Given the description of an element on the screen output the (x, y) to click on. 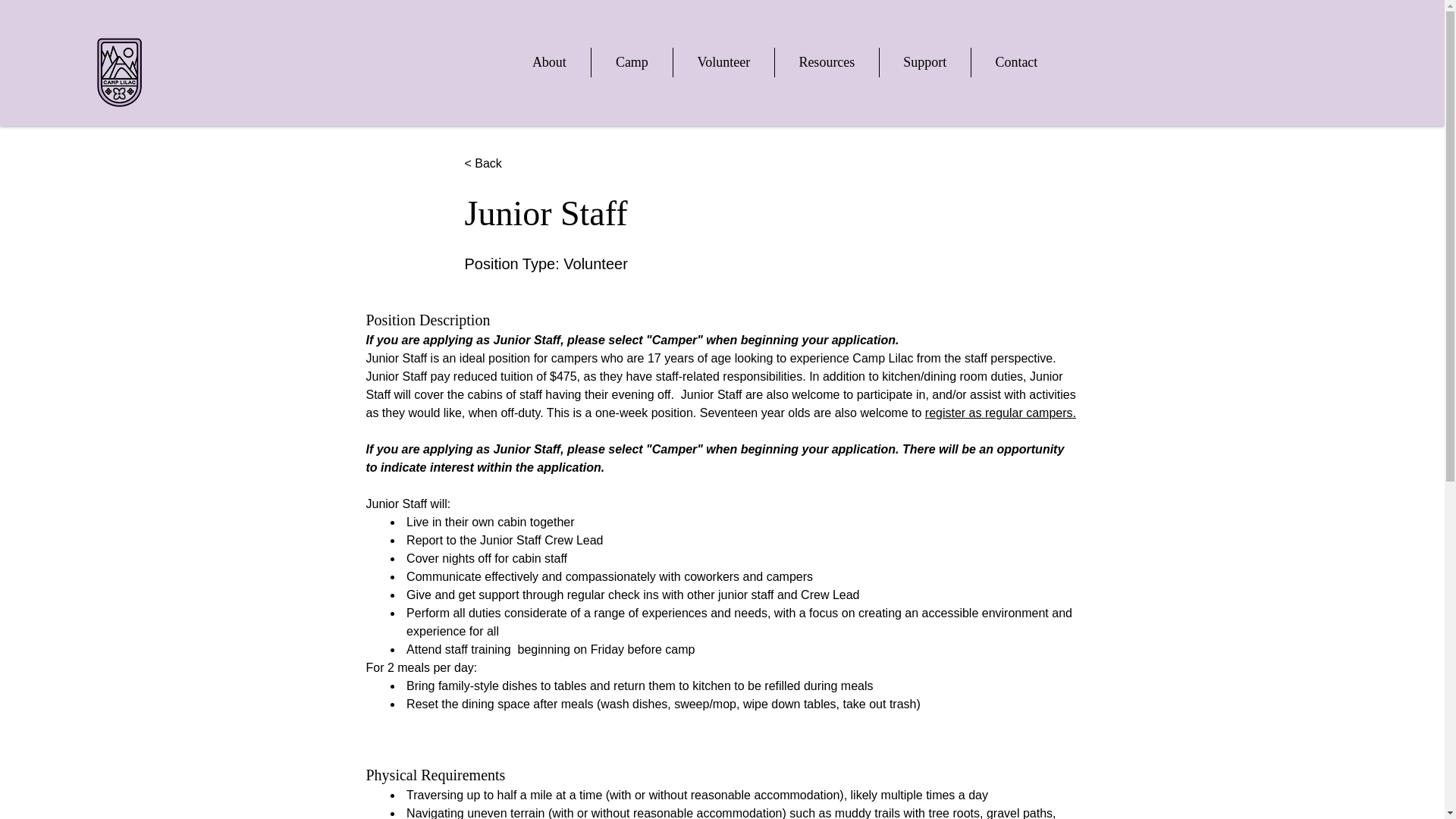
Resources (826, 61)
register as regular campers. (999, 412)
Contact (1016, 61)
Support (925, 61)
